Given the description of an element on the screen output the (x, y) to click on. 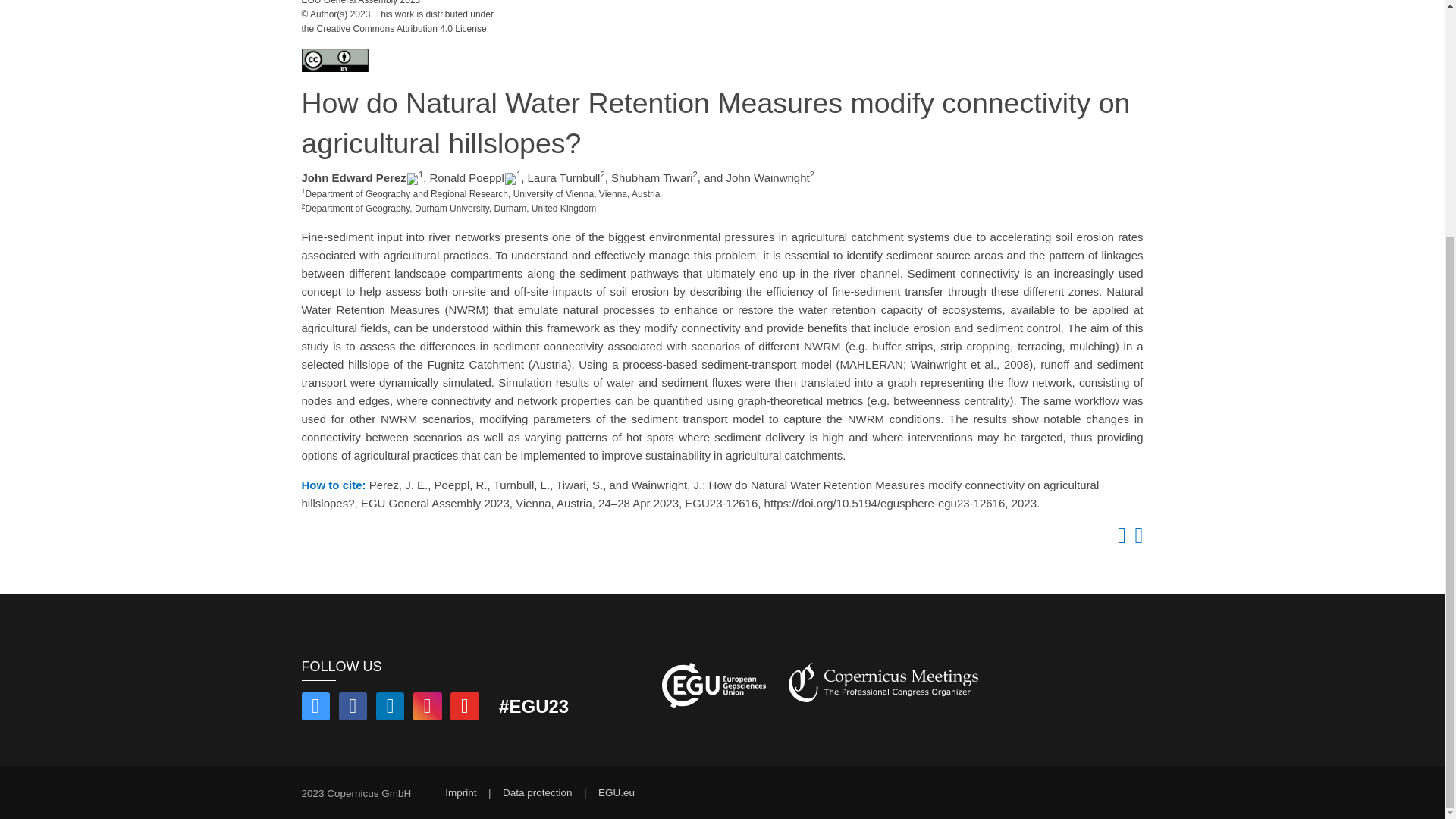
Find us on YouTube (464, 707)
Find us on Instagram (427, 707)
Follow us on Twitter (315, 707)
Follow us on Facebook (353, 707)
Open QR code linking to abstract URL (1135, 538)
Copy to clipboard (1118, 538)
Find us on LinkedIn (389, 707)
